Given the description of an element on the screen output the (x, y) to click on. 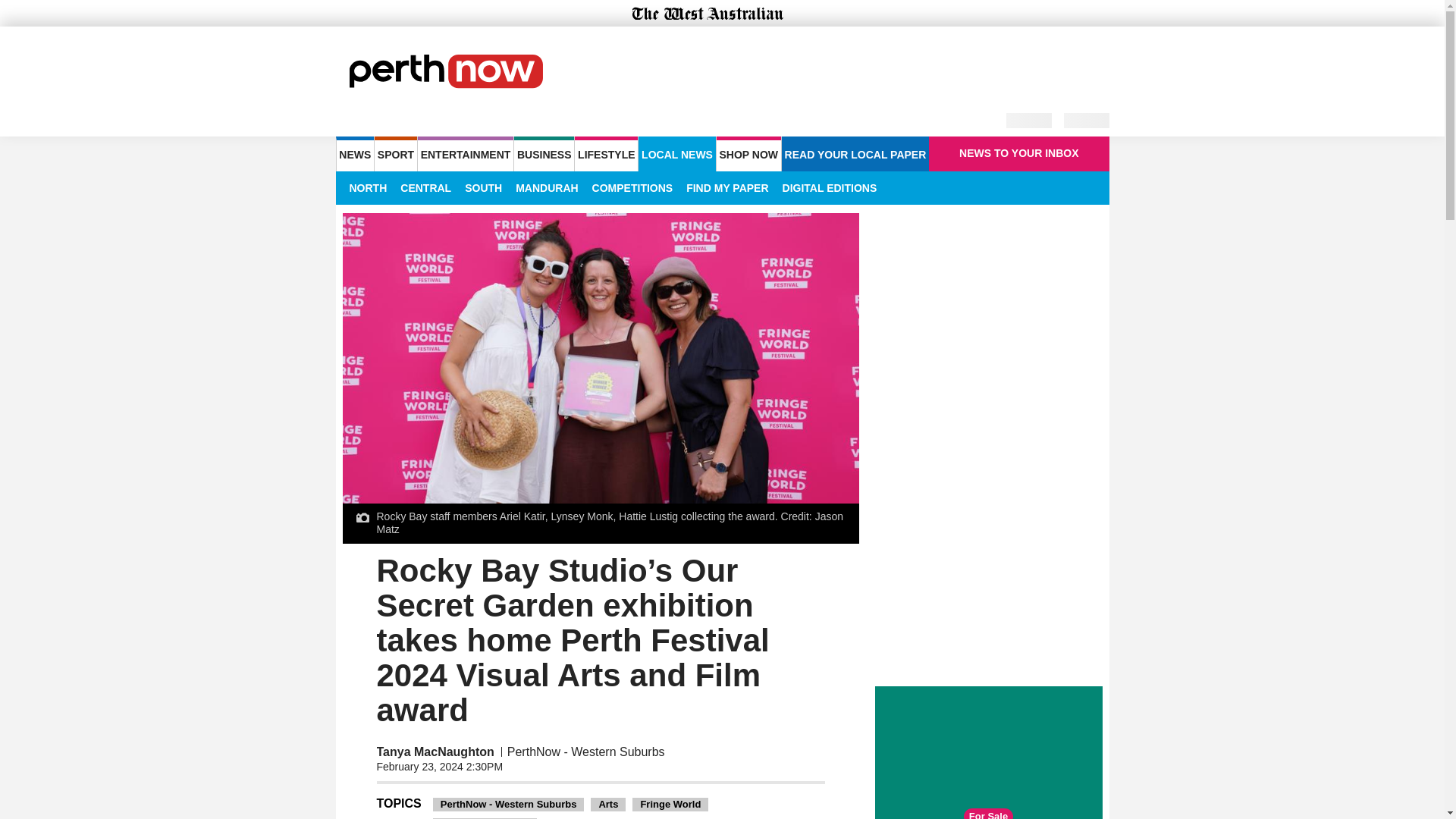
BUSINESS (543, 153)
SPORT (395, 153)
NEWS (354, 153)
ENTERTAINMENT (465, 153)
